Given the description of an element on the screen output the (x, y) to click on. 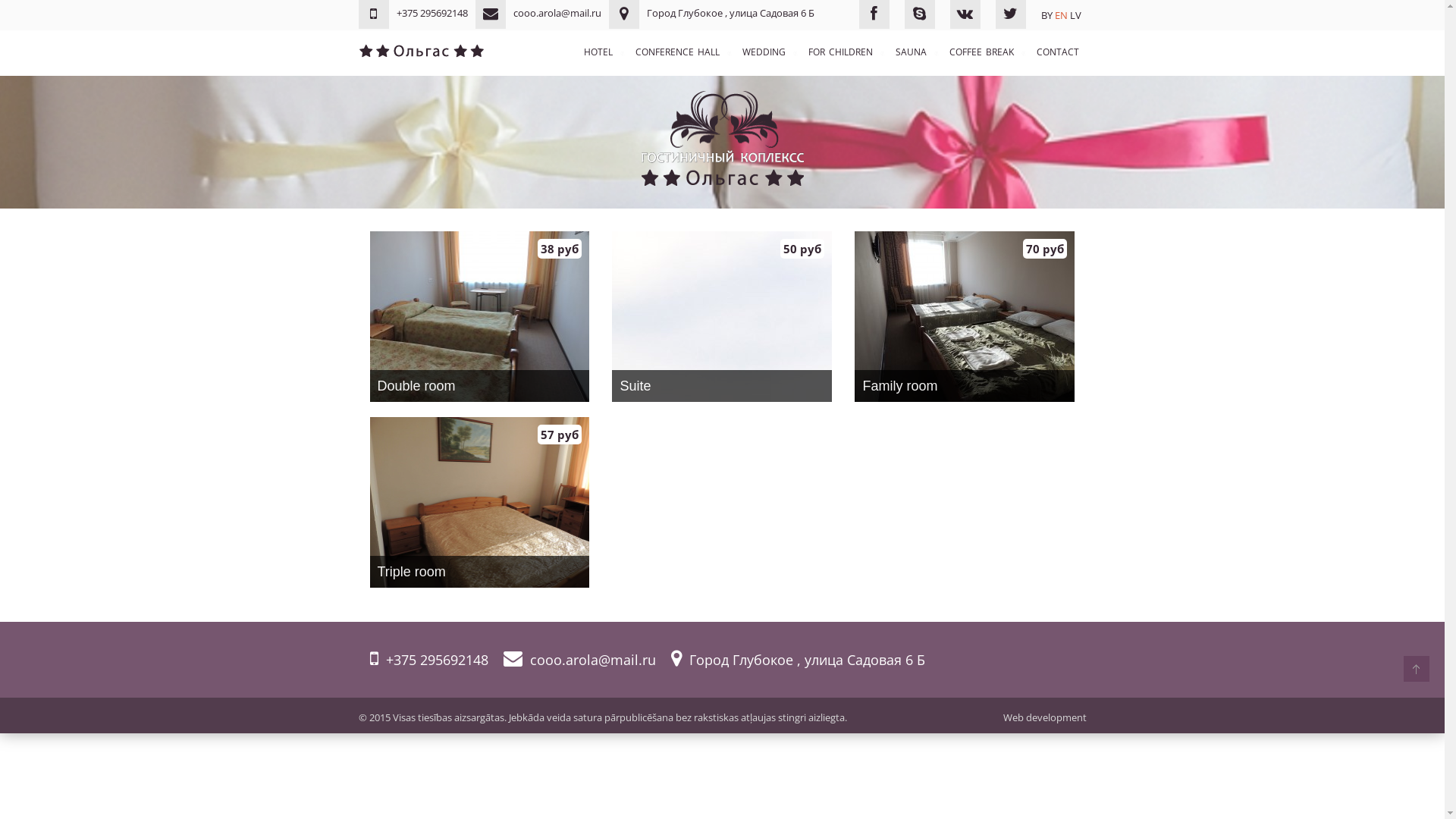
cooo.arola@mail.ru Element type: text (537, 12)
EN Element type: text (1060, 14)
CONFERENCE HALL Element type: text (677, 51)
SAUNA Element type: text (909, 51)
HOTEL Element type: text (597, 51)
WEDDING Element type: text (762, 51)
LV Element type: text (1074, 14)
FOR CHILDREN Element type: text (840, 51)
Web development Element type: text (1043, 717)
CONTACT Element type: text (1056, 51)
cooo.arola@mail.ru Element type: text (579, 659)
BY Element type: text (1045, 14)
COFFEE BREAK Element type: text (981, 51)
